Given the description of an element on the screen output the (x, y) to click on. 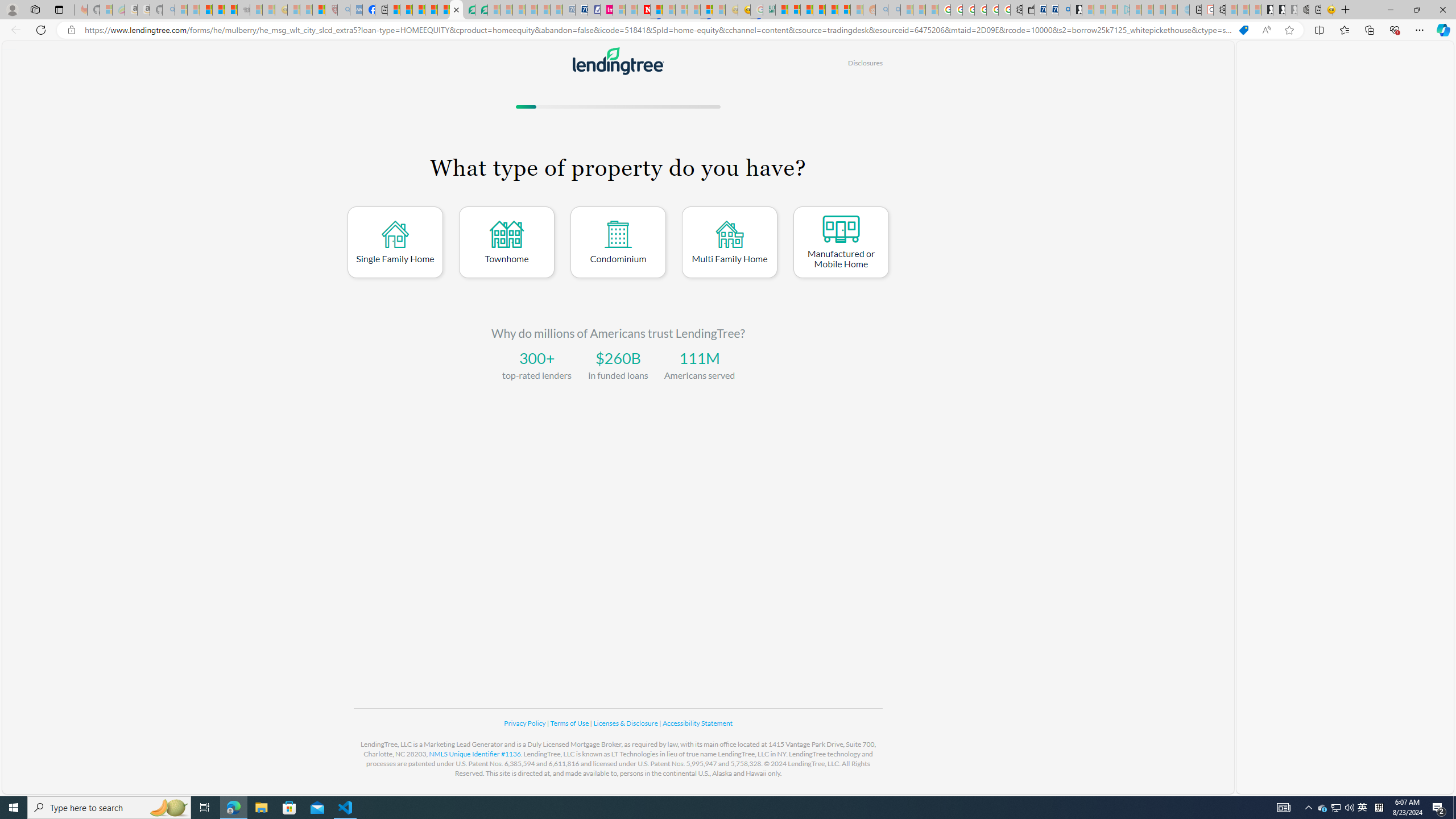
Terms of Use Agreement (468, 9)
The Weather Channel - MSN (205, 9)
Local - MSN (318, 9)
